Given the description of an element on the screen output the (x, y) to click on. 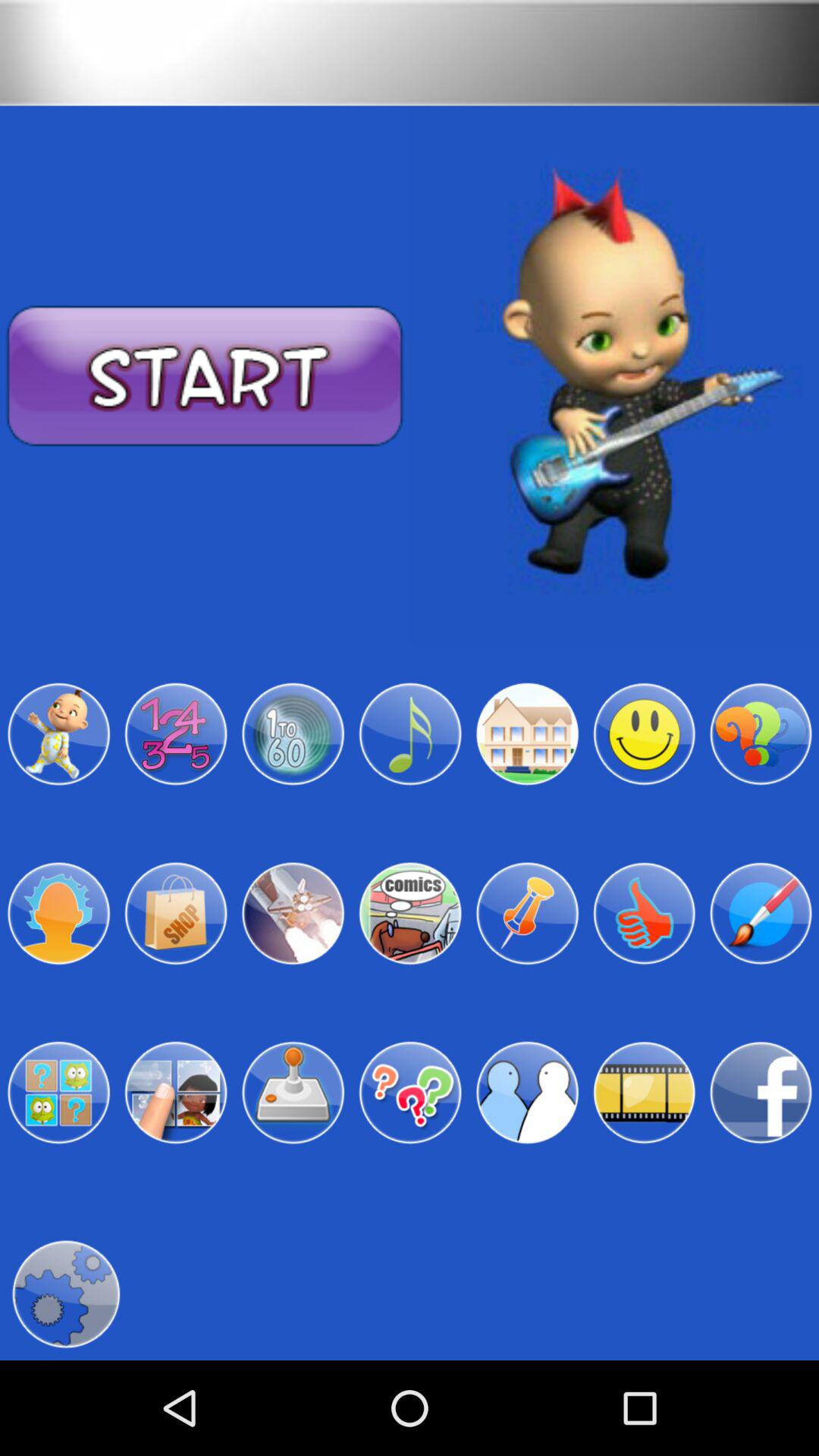
choose the game (526, 734)
